Given the description of an element on the screen output the (x, y) to click on. 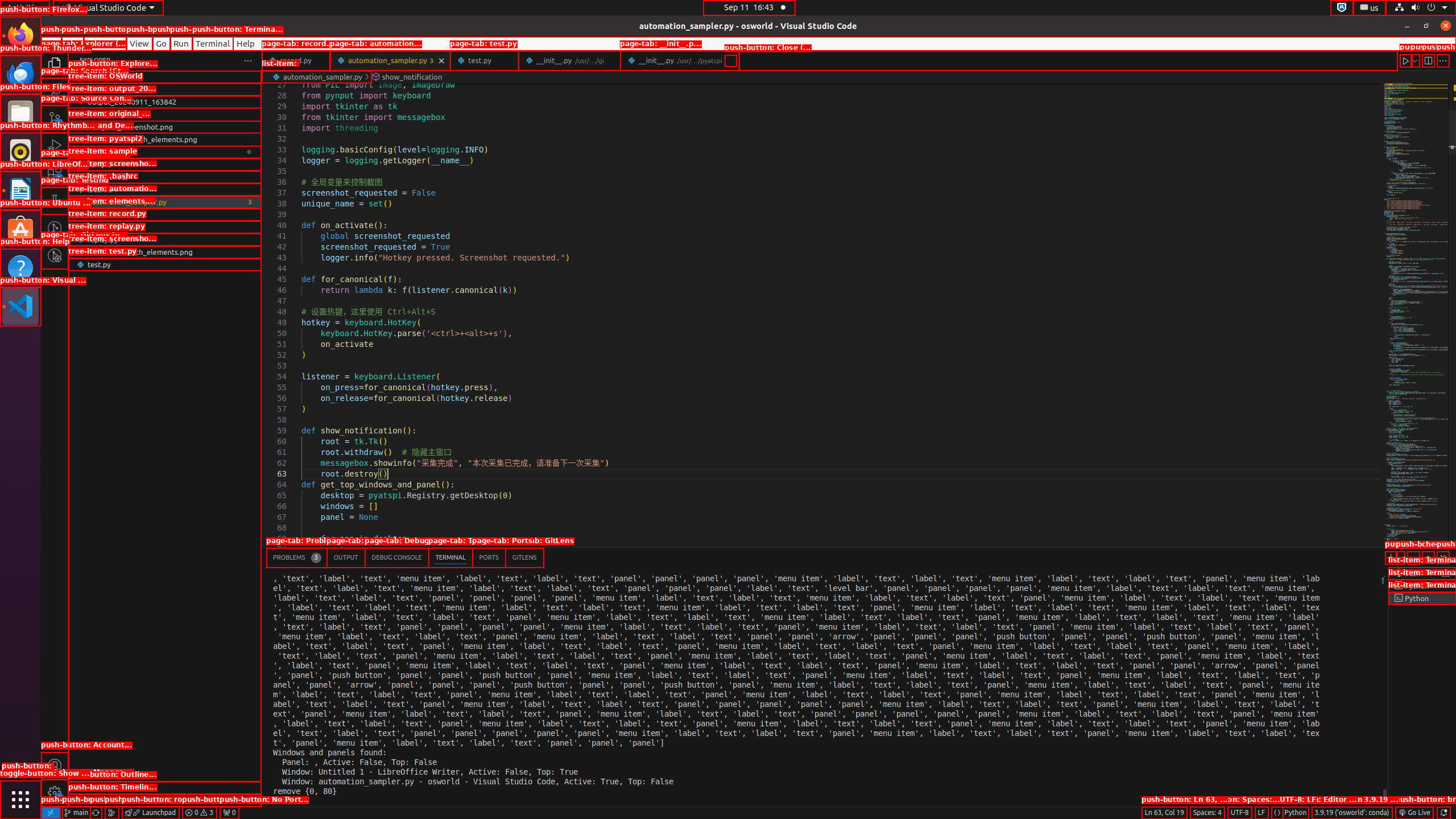
Notifications Element type: push-button (1443, 812)
Split Editor Right (Ctrl+\) [Alt] Split Editor Down Element type: push-button (1427, 60)
Explorer (Ctrl+Shift+E) Element type: page-tab (54, 63)
